Given the description of an element on the screen output the (x, y) to click on. 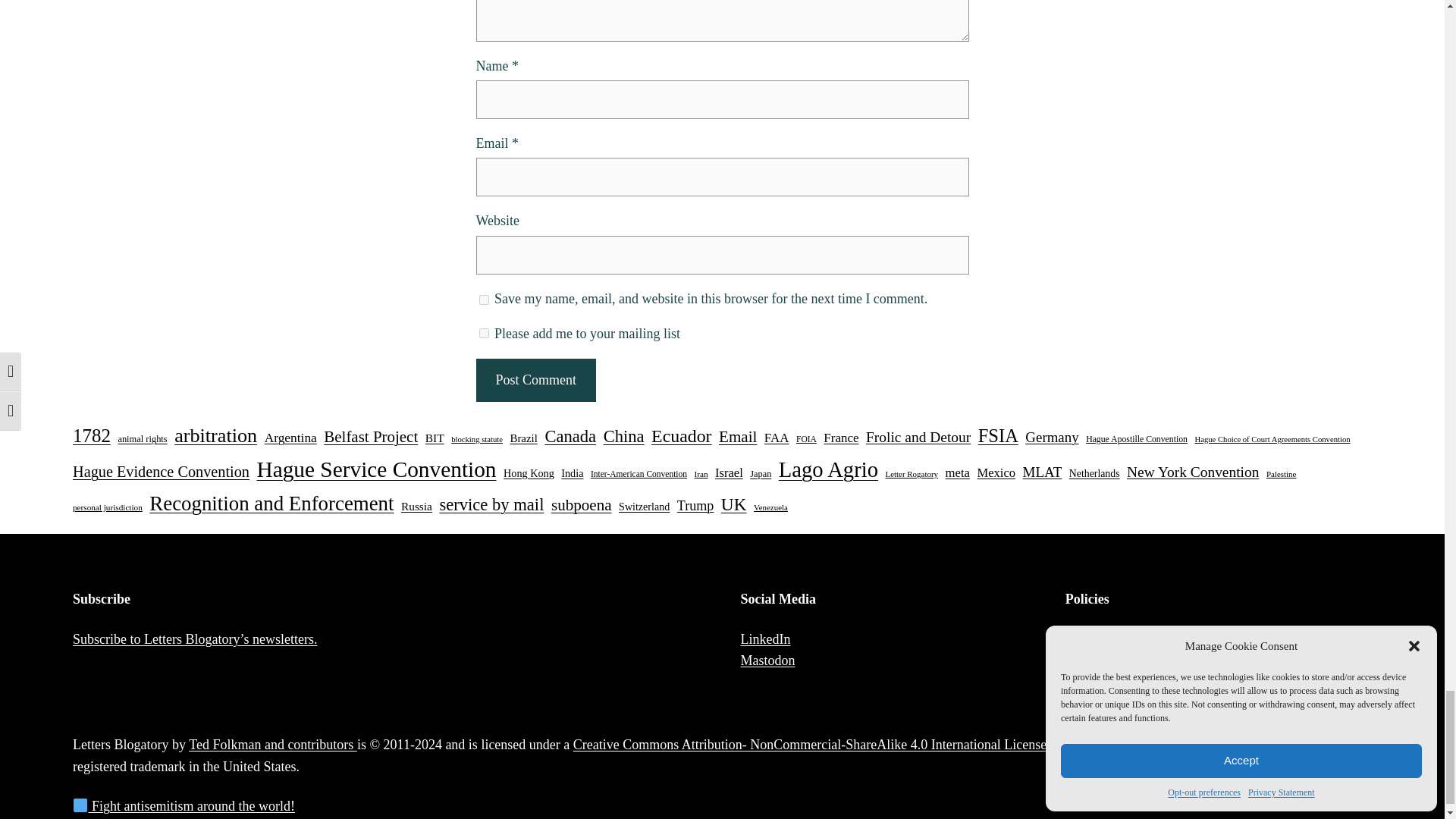
1 (484, 333)
Post Comment (535, 380)
